Given the description of an element on the screen output the (x, y) to click on. 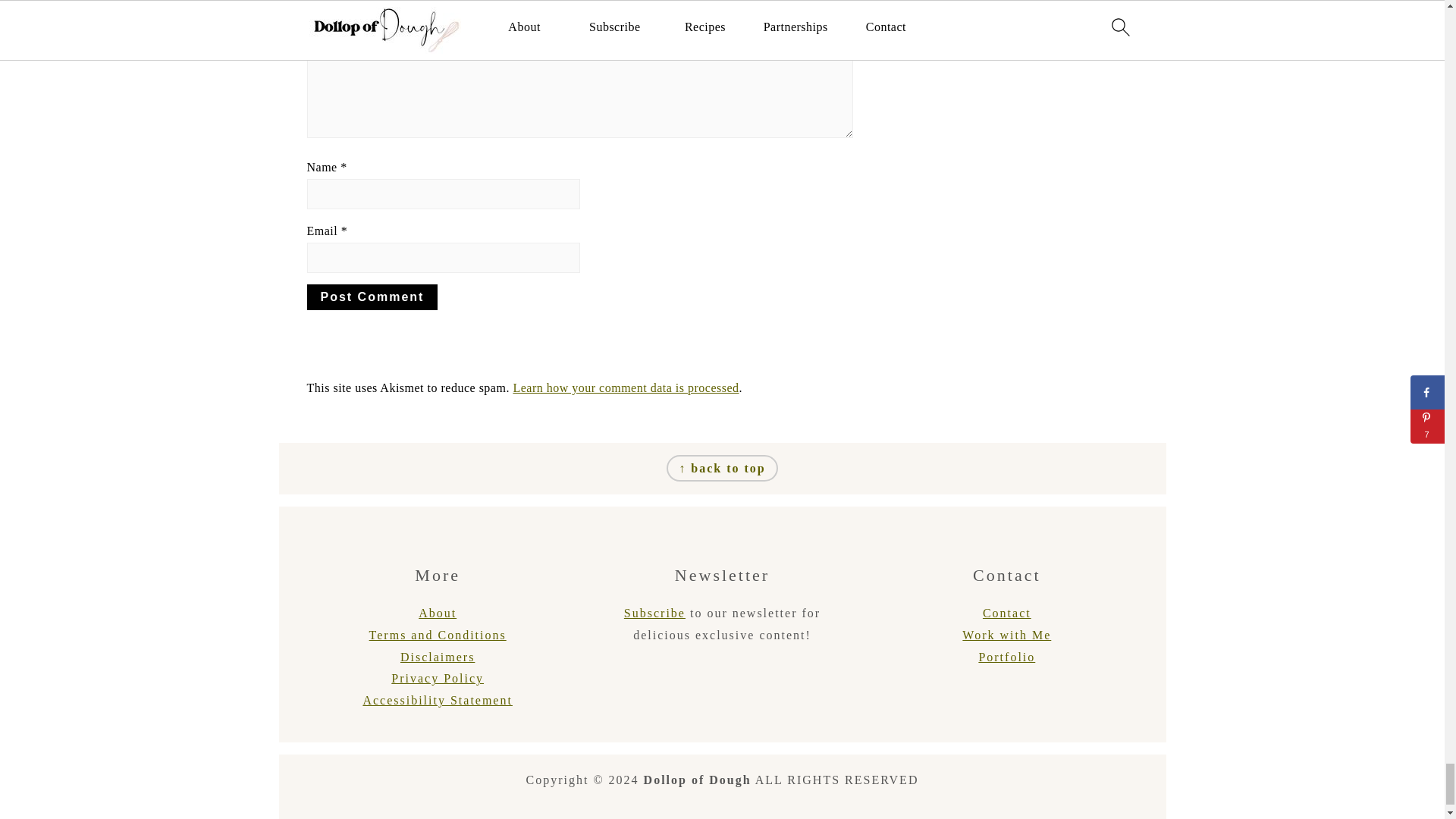
Post Comment (371, 297)
